Given the description of an element on the screen output the (x, y) to click on. 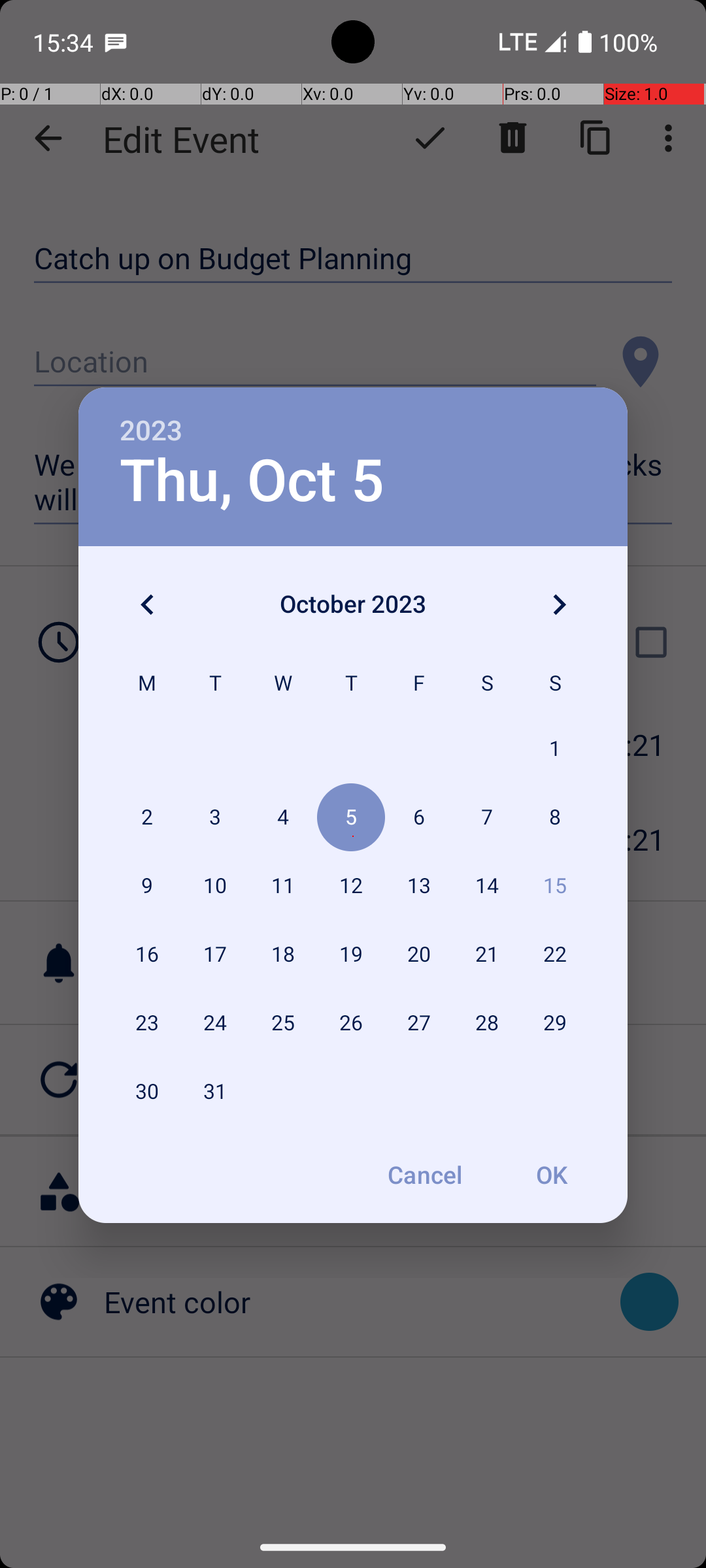
Thu, Oct 5 Element type: android.widget.TextView (251, 480)
